Given the description of an element on the screen output the (x, y) to click on. 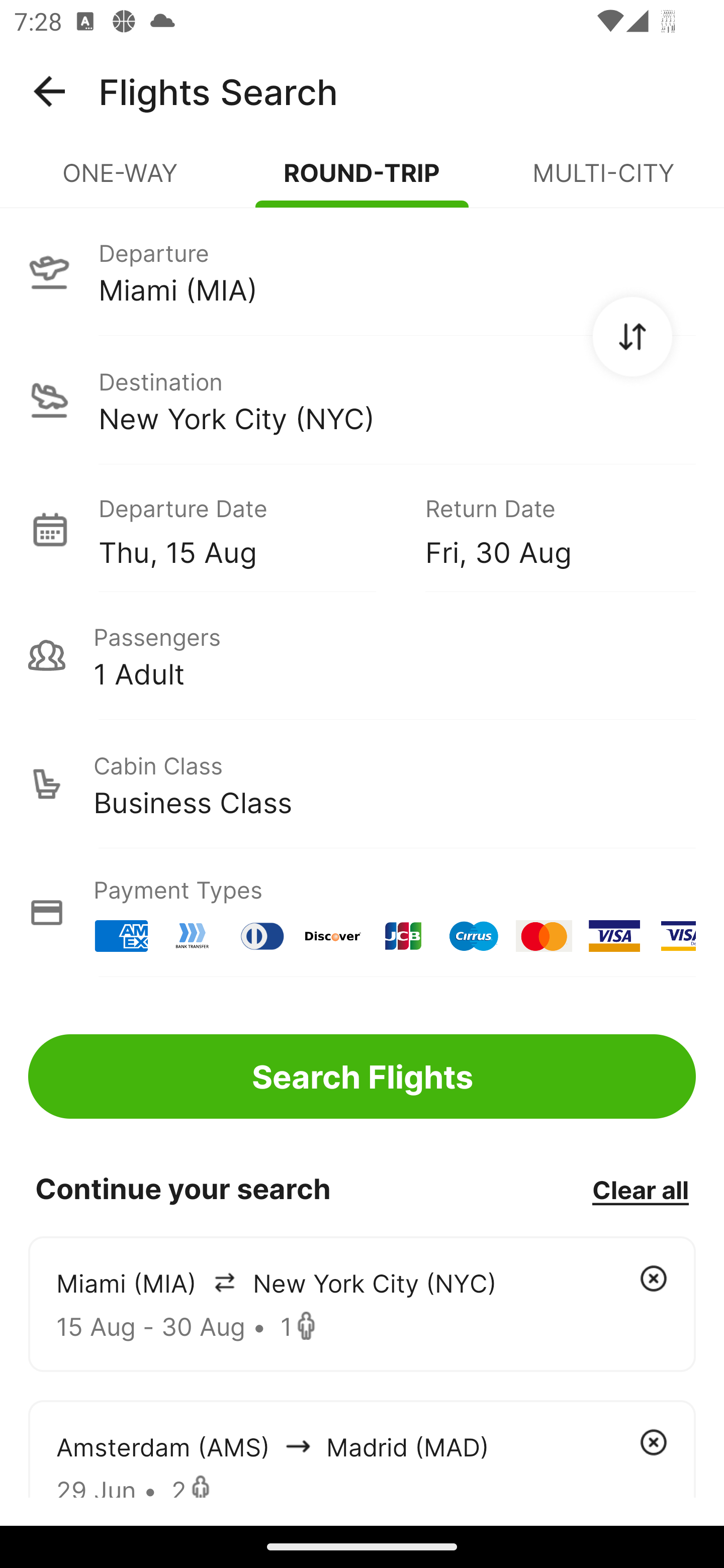
ONE-WAY (120, 180)
ROUND-TRIP (361, 180)
MULTI-CITY (603, 180)
Departure Miami (MIA) (362, 270)
Destination New York City (NYC) (362, 400)
Departure Date Thu, 15 Aug (247, 528)
Return Date Fri, 30 Aug (546, 528)
Passengers 1 Adult (362, 655)
Cabin Class Business Class (362, 783)
Payment Types (362, 912)
Search Flights (361, 1075)
Clear all (640, 1189)
